Given the description of an element on the screen output the (x, y) to click on. 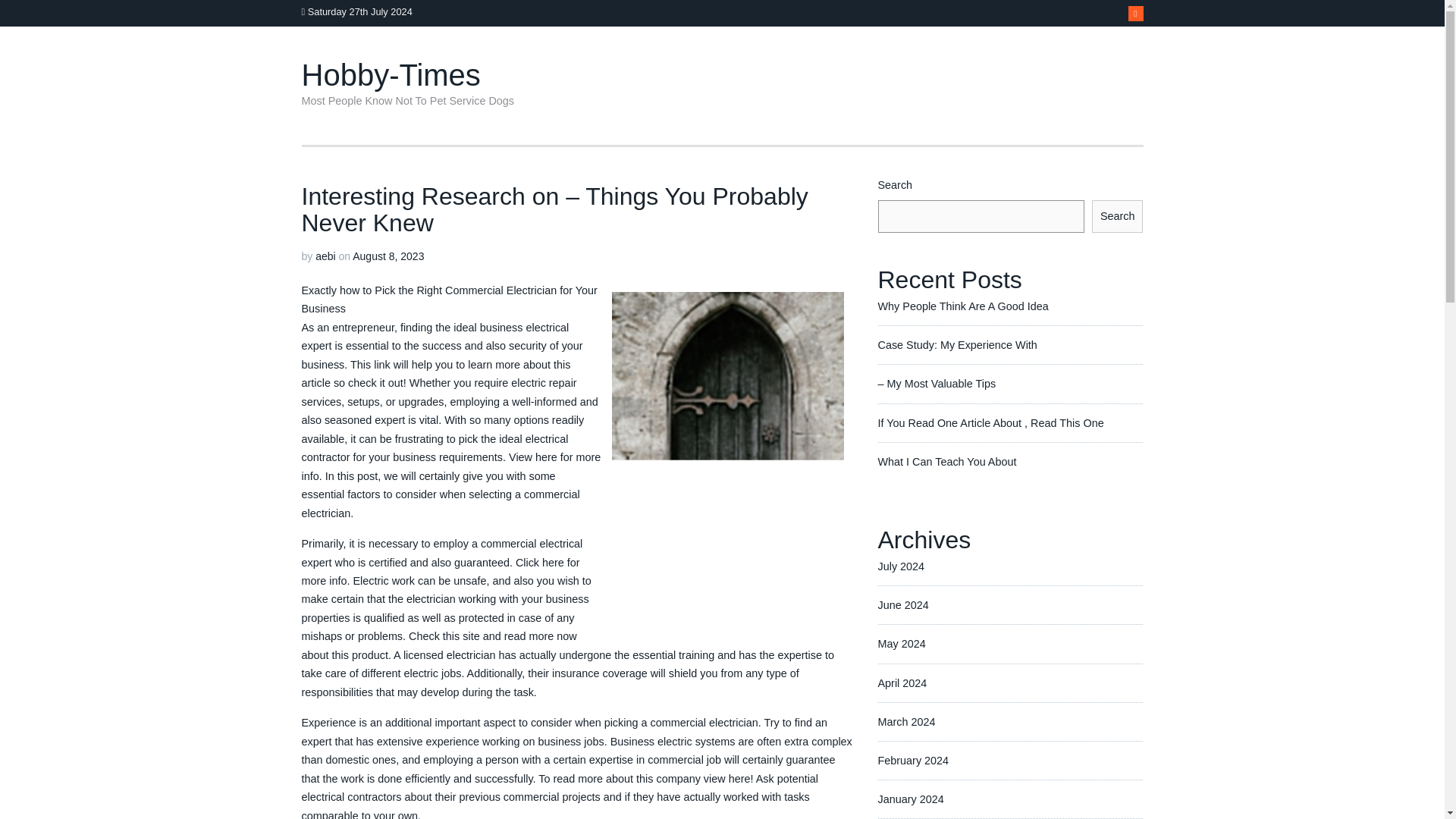
more about (522, 364)
June 2024 (902, 604)
view here! (728, 778)
aebi (324, 256)
April 2024 (902, 682)
If You Read One Article About , Read This One (990, 422)
February 2024 (913, 760)
March 2024 (906, 721)
What I Can Teach You About (946, 461)
Hobby-Times (390, 74)
link (382, 364)
July 2024 (900, 566)
May 2024 (901, 644)
Hobby-Times (390, 74)
August 8, 2023 (387, 256)
